Given the description of an element on the screen output the (x, y) to click on. 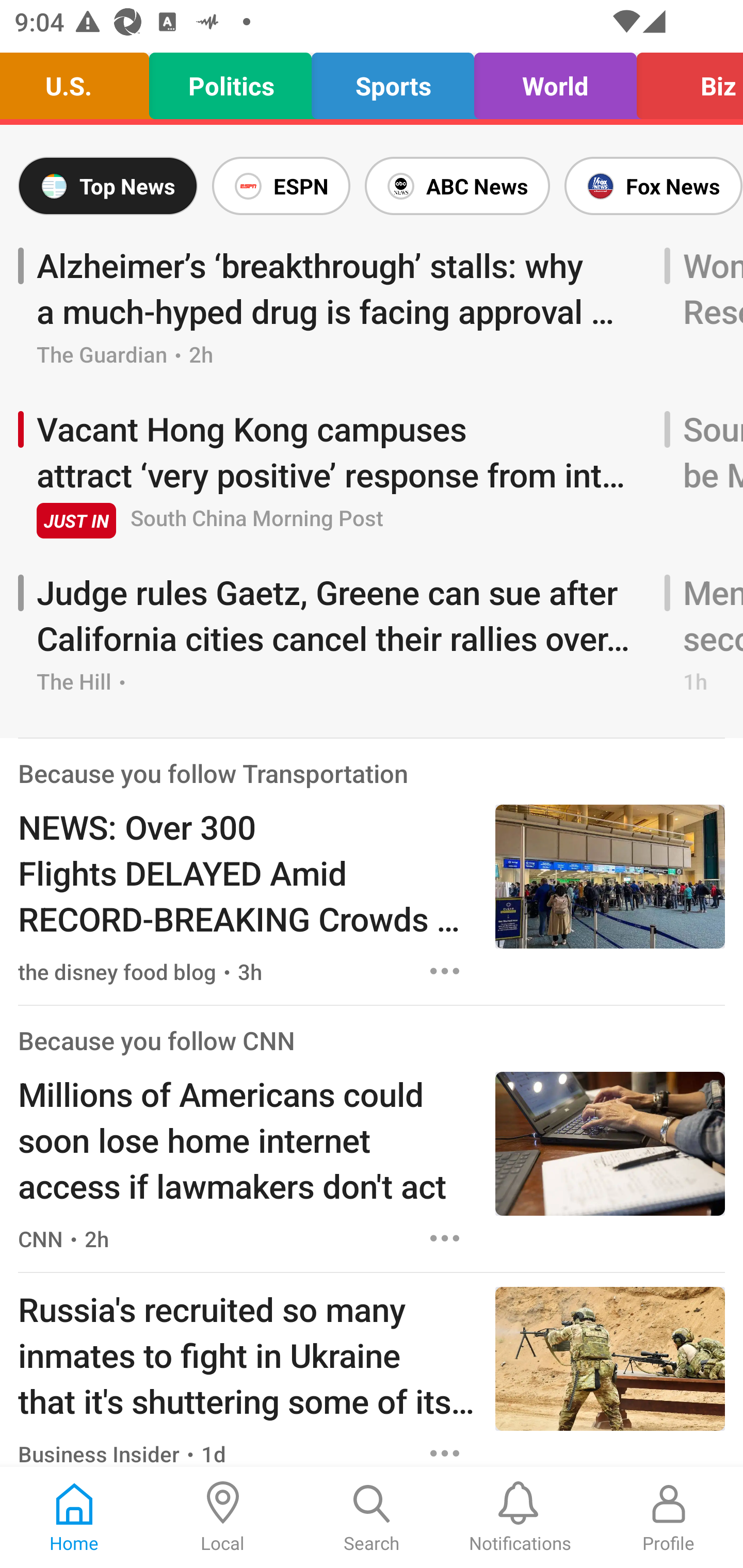
U.S. (79, 81)
Politics (230, 81)
Sports (392, 81)
World (555, 81)
Biz (684, 81)
ESPN (281, 185)
ABC News (457, 185)
Fox News (650, 185)
JUST IN (75, 520)
Because you follow Transportation (212, 772)
Options (444, 971)
Because you follow CNN (155, 1039)
Options (444, 1238)
Options (444, 1449)
Local (222, 1517)
Search (371, 1517)
Notifications (519, 1517)
Profile (668, 1517)
